Given the description of an element on the screen output the (x, y) to click on. 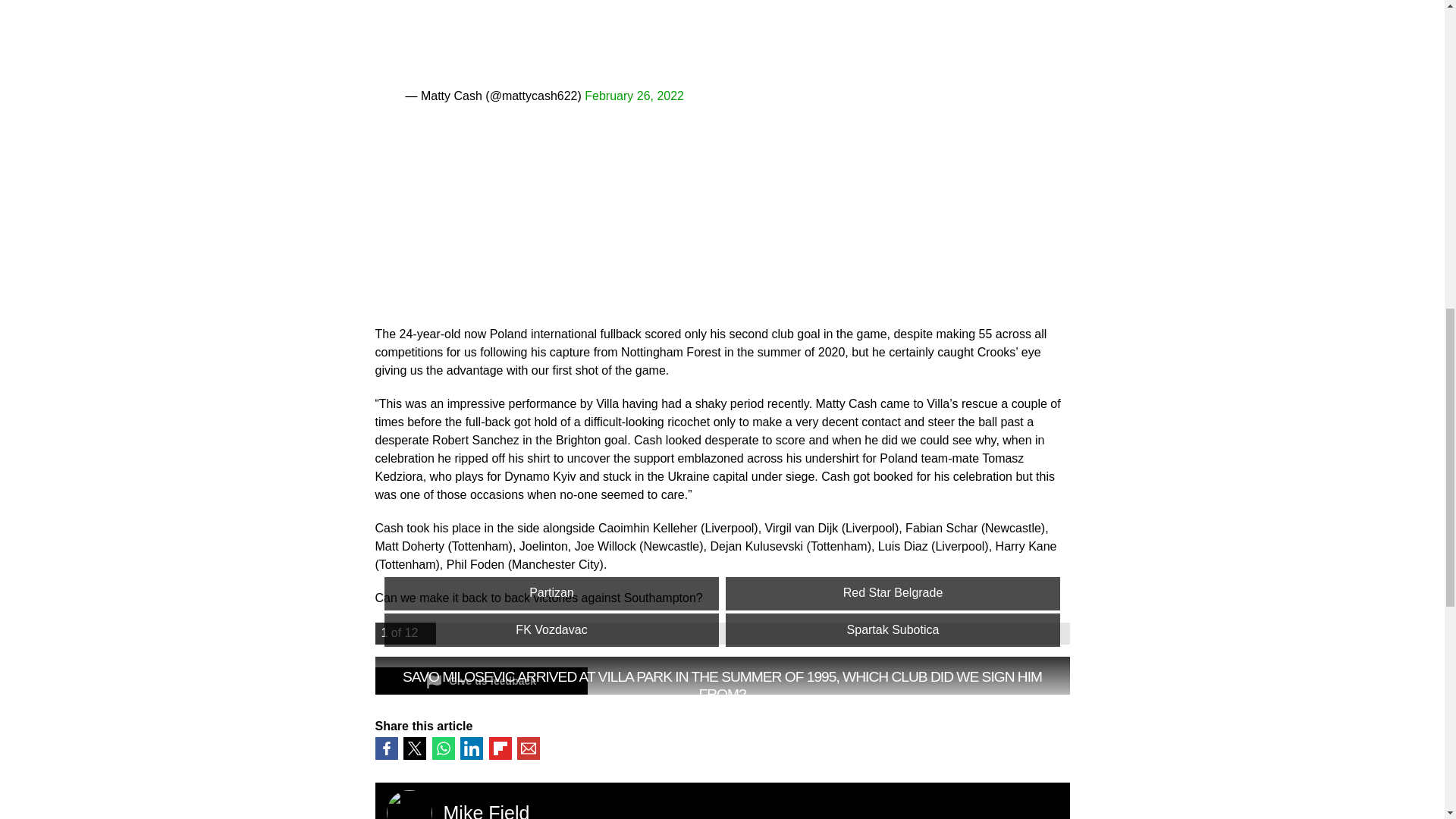
share on Twitter (414, 748)
Partizan (551, 593)
Mike Field (485, 810)
Partizan (551, 593)
Spartak Subotica (892, 630)
February 26, 2022 (634, 95)
Red Star Belgrade (892, 593)
Red Star Belgrade (892, 593)
Give us feedback (480, 680)
FK Vozdavac (551, 630)
